Given the description of an element on the screen output the (x, y) to click on. 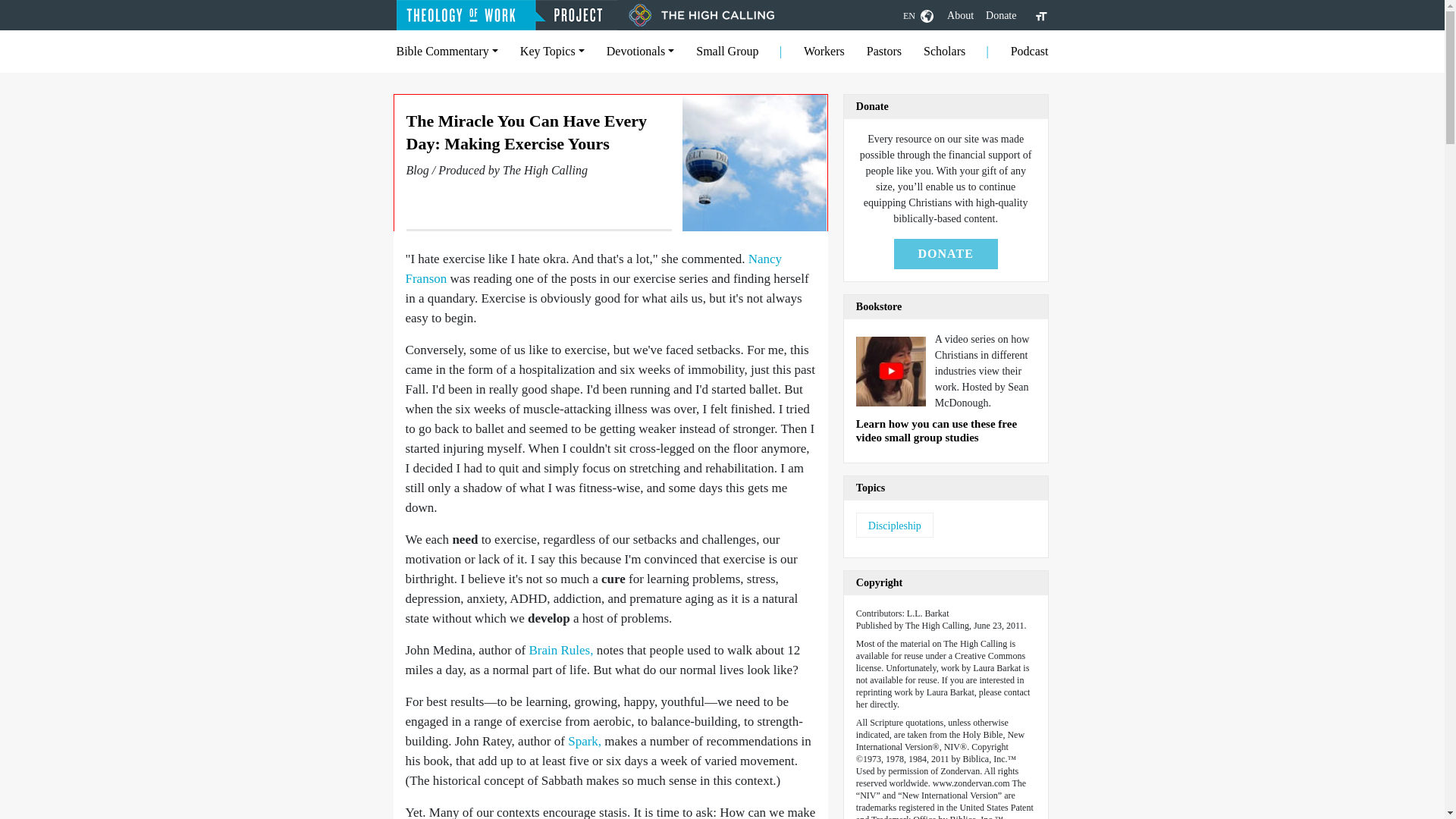
Bible Commentary (446, 51)
EN (917, 15)
Donate (1000, 15)
About (959, 15)
Donate (1000, 15)
About (959, 15)
